Given the description of an element on the screen output the (x, y) to click on. 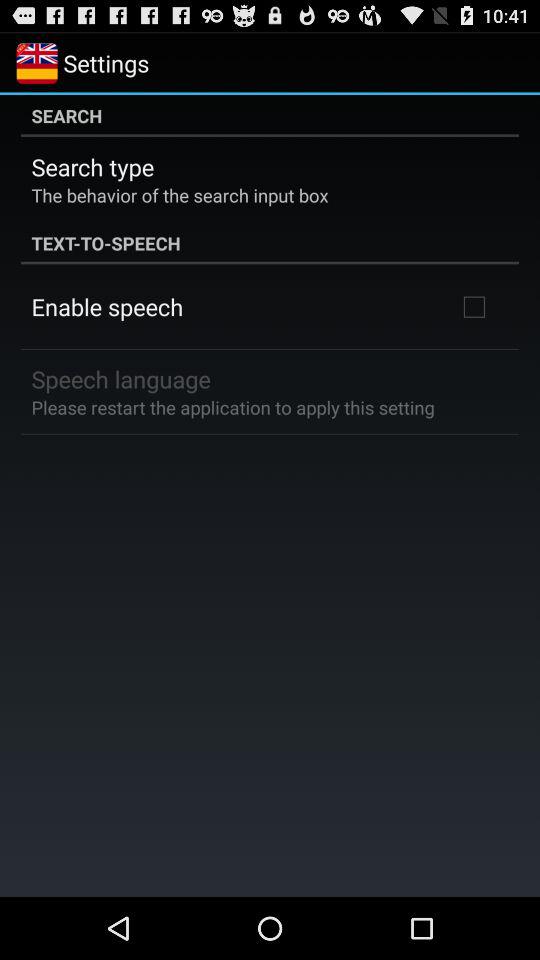
click item below the search type item (179, 194)
